Given the description of an element on the screen output the (x, y) to click on. 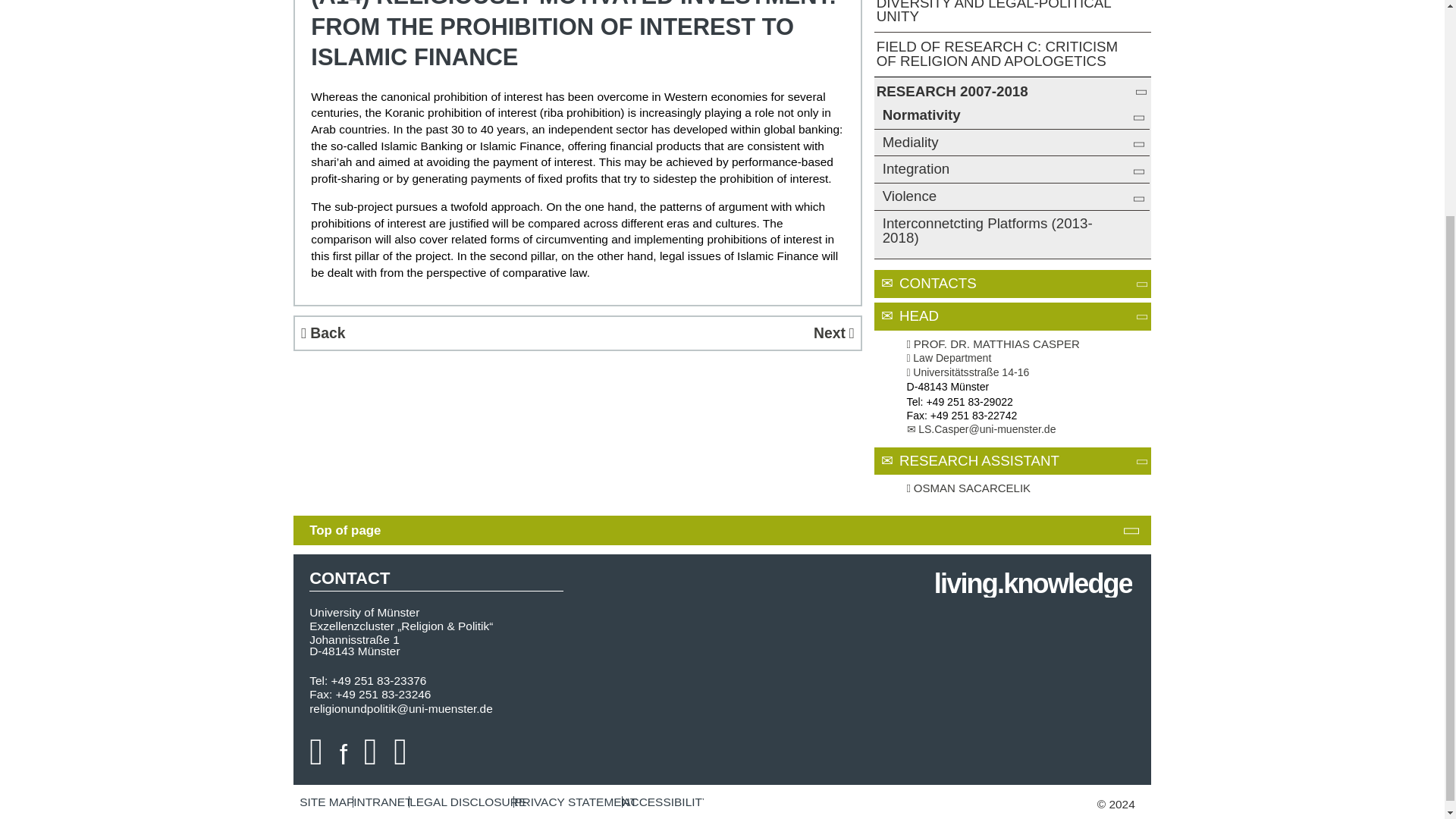
Facebook (343, 751)
Youtube (315, 751)
::A15 - Inter Faith Relations (719, 332)
Instagram (400, 751)
X (370, 751)
Telefon (913, 401)
